Given the description of an element on the screen output the (x, y) to click on. 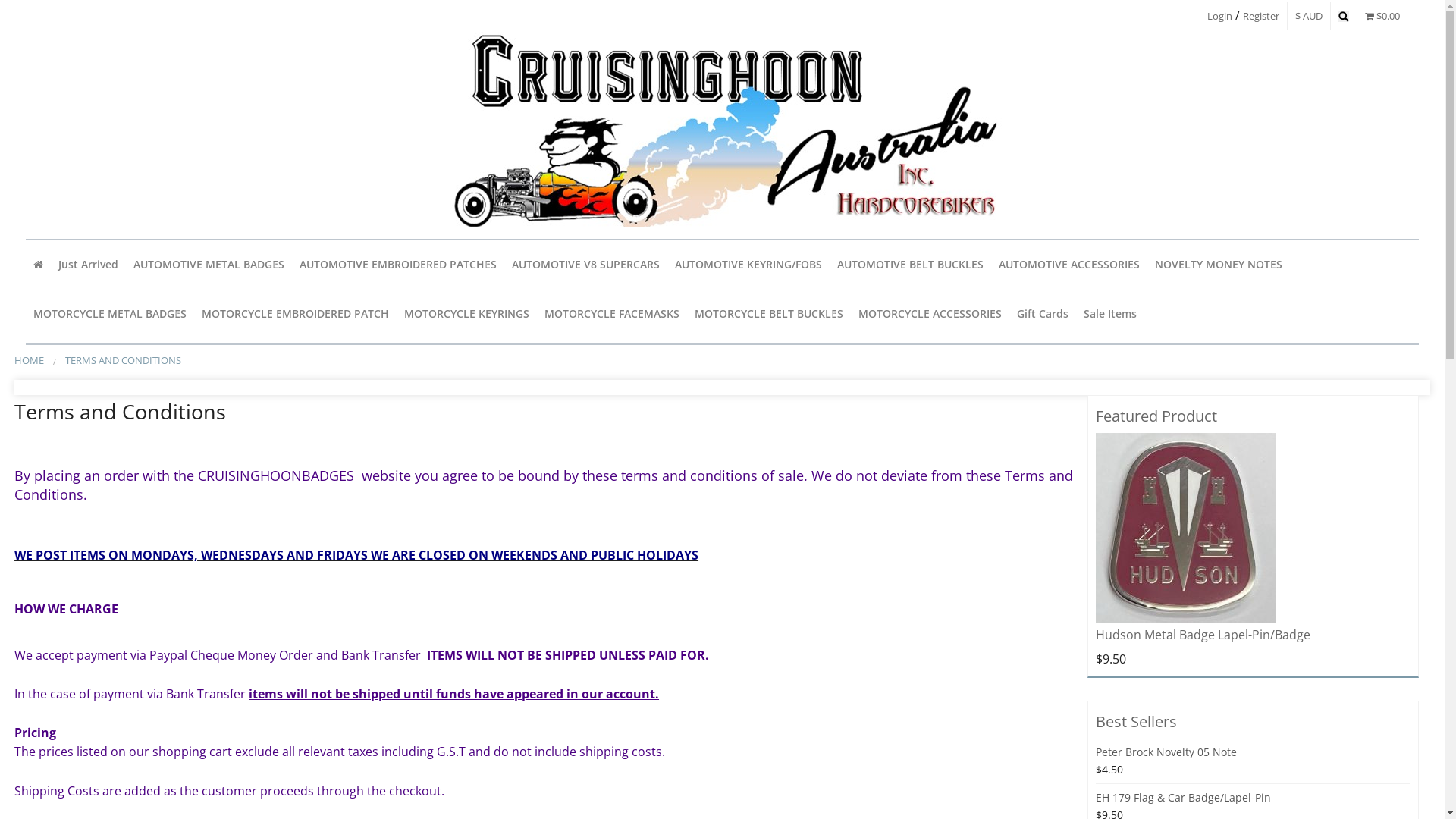
AUTOMOTIVE ACCESSORIES Element type: text (1069, 263)
CHEVROLET Element type: text (397, 374)
MOTORCYCLE KEYRINGS Element type: text (466, 313)
BACK PATCHES Element type: text (397, 476)
EUROPEAN Element type: text (397, 408)
ADULTS ONLY Element type: text (295, 355)
TRUCK Element type: text (748, 476)
TERMS AND CONDITIONS Element type: text (123, 360)
HOME Element type: text (28, 360)
MOTORCYCLE EMBROIDERED PATCH Element type: text (295, 313)
AUTOMOTIVE KEYRING/FOBS Element type: text (748, 263)
BRITISH Element type: text (397, 578)
NOVELTY MONEY NOTES Element type: text (1218, 263)
Peter Brock Novelty 05 Note Element type: text (1165, 751)
HOLDEN Element type: text (208, 613)
ASIAN Element type: text (208, 340)
MOTORCYCLE METAL BADGES Element type: text (109, 313)
TRUCKS Element type: text (208, 374)
EUROPEAN Element type: text (748, 340)
MOPAR CHRYSLER Element type: text (208, 681)
USA CLASSICS Element type: text (397, 544)
PATRIOTIC & NED KELLY Element type: text (295, 389)
OIL BRAND NAMES Element type: text (748, 510)
MISCELLANEOUS Element type: text (208, 476)
MISCELLANEOUS Element type: text (397, 510)
MOTORCYCLE BELT BUCKLES Element type: text (768, 313)
MOTORCYCLE ACCESSORIES Element type: text (929, 313)
EUROPEAN Element type: text (208, 305)
USA CLASSICS Element type: text (208, 442)
CUSTOM YEARS Element type: text (748, 613)
BIKER BUCKLES Element type: text (768, 355)
MOPAR CHRYSLER Element type: text (397, 715)
USA CLASSICS Element type: text (748, 408)
JAPANESE Element type: text (397, 340)
Sale Items Element type: text (1110, 313)
TRUCKS Element type: text (397, 442)
EH 179 Flag & Car Badge/Lapel-Pin Element type: text (1182, 797)
FORD Element type: text (208, 647)
YEAR PINS Element type: text (208, 408)
Gift Cards Element type: text (1042, 313)
HOLDEN Element type: text (748, 578)
BRITISH Element type: text (748, 305)
Just Arrived Element type: text (87, 263)
USA MUSCLE Element type: text (397, 305)
BIKER BADGES Element type: text (109, 355)
Hudson Metal Badge Lapel-Pin/Badge Element type: text (1202, 634)
Hudson Metal Badge Lapel-Pin/Badge Element type: hover (1185, 527)
NOSTALGIC Element type: text (397, 647)
OIL & COMPANY BRANDS Element type: text (397, 613)
MOTORCYCLE FACEMASKS Element type: text (611, 313)
OFFICE BEARERS Element type: text (295, 491)
BACK PATCHES Element type: text (295, 559)
HOLDEN Element type: text (397, 749)
AUTOMOTIVE BELT BUCKLES Element type: text (910, 263)
BRAND & LOGO BUCKLES Element type: text (768, 389)
NOSTALGIC Element type: text (208, 544)
LADY BIKER Element type: text (295, 525)
FORD Element type: text (397, 681)
BIKER STUFF Element type: text (295, 457)
OIL & COMPANIES BRANDS Element type: text (208, 578)
$0.00 Element type: text (1382, 15)
AUTOMOTIVE V8 SUPERCARS Element type: text (585, 263)
BRITISH Element type: text (208, 510)
MOTORCYCLE BRAND LOGOS Element type: text (109, 389)
Home Element type: hover (37, 263)
Register Element type: text (1260, 15)
$ AUD Element type: text (1308, 15)
BIKER BRAND LOGOS Element type: text (295, 423)
AUTOMOTIVE METAL BADGES Element type: text (208, 263)
ASIAN Element type: text (748, 374)
MOPAR CHRYSLER Element type: text (748, 442)
FORD Element type: text (748, 544)
AUTOMOTIVE EMBROIDERED PATCHES Element type: text (397, 263)
Login Element type: text (1219, 15)
